Given the description of an element on the screen output the (x, y) to click on. 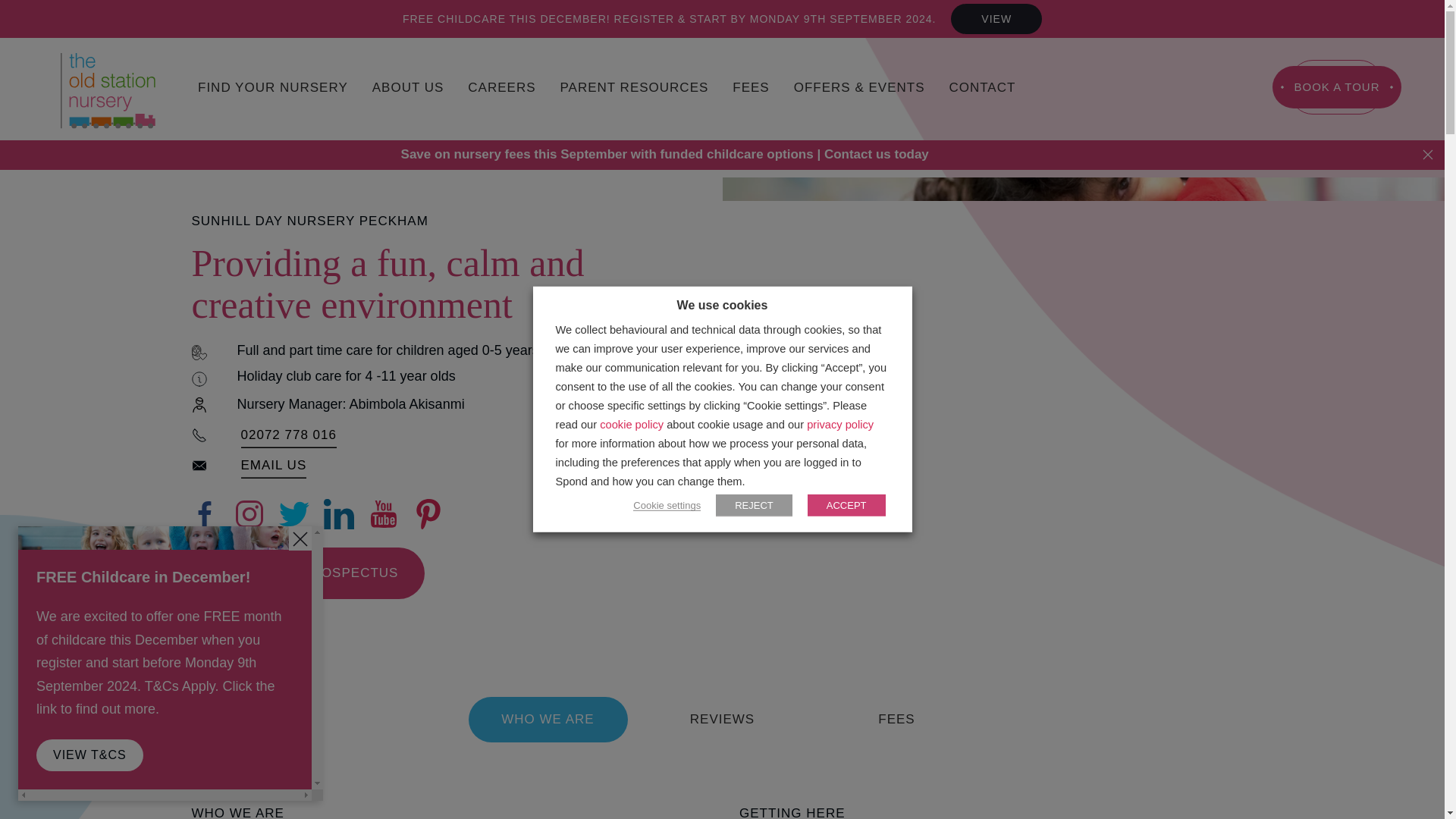
Follow us on youtube (385, 513)
Follow us on twitter (296, 513)
Follow us on facebook (206, 513)
Follow us on pinterest (428, 513)
Follow us on instagram (250, 513)
Fill 1 Created with Sketch. (85, 659)
Follow us on linkedin (340, 513)
VIEW (996, 19)
